Given the description of an element on the screen output the (x, y) to click on. 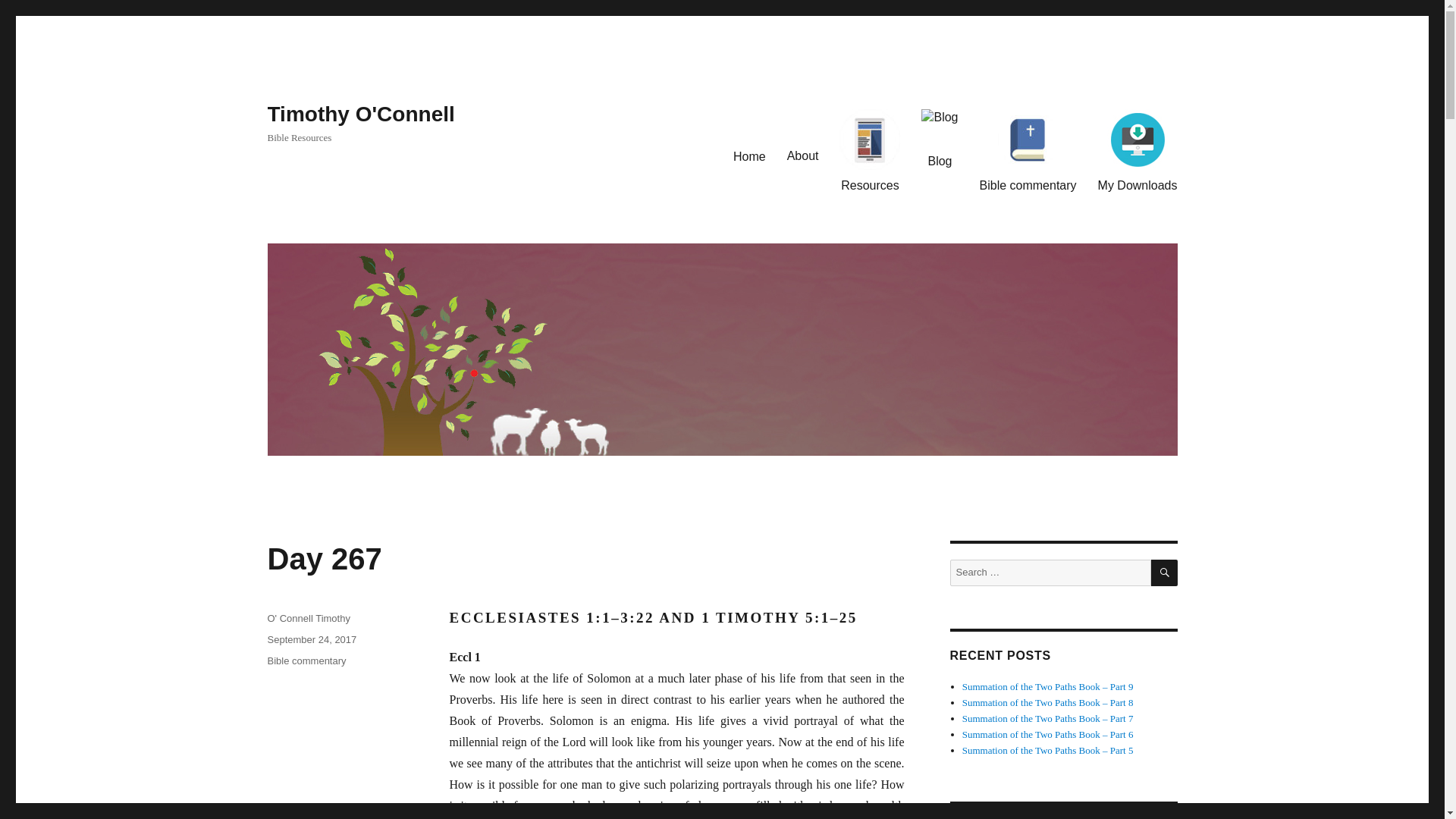
Blog (939, 138)
About (802, 135)
Timothy O'Connell (360, 114)
September 24, 2017 (311, 639)
Resources (869, 150)
SEARCH (1164, 572)
Home (749, 136)
O' Connell Timothy (307, 618)
Bible commentary (306, 660)
My Downloads (1137, 150)
Bible commentary (1028, 150)
